Given the description of an element on the screen output the (x, y) to click on. 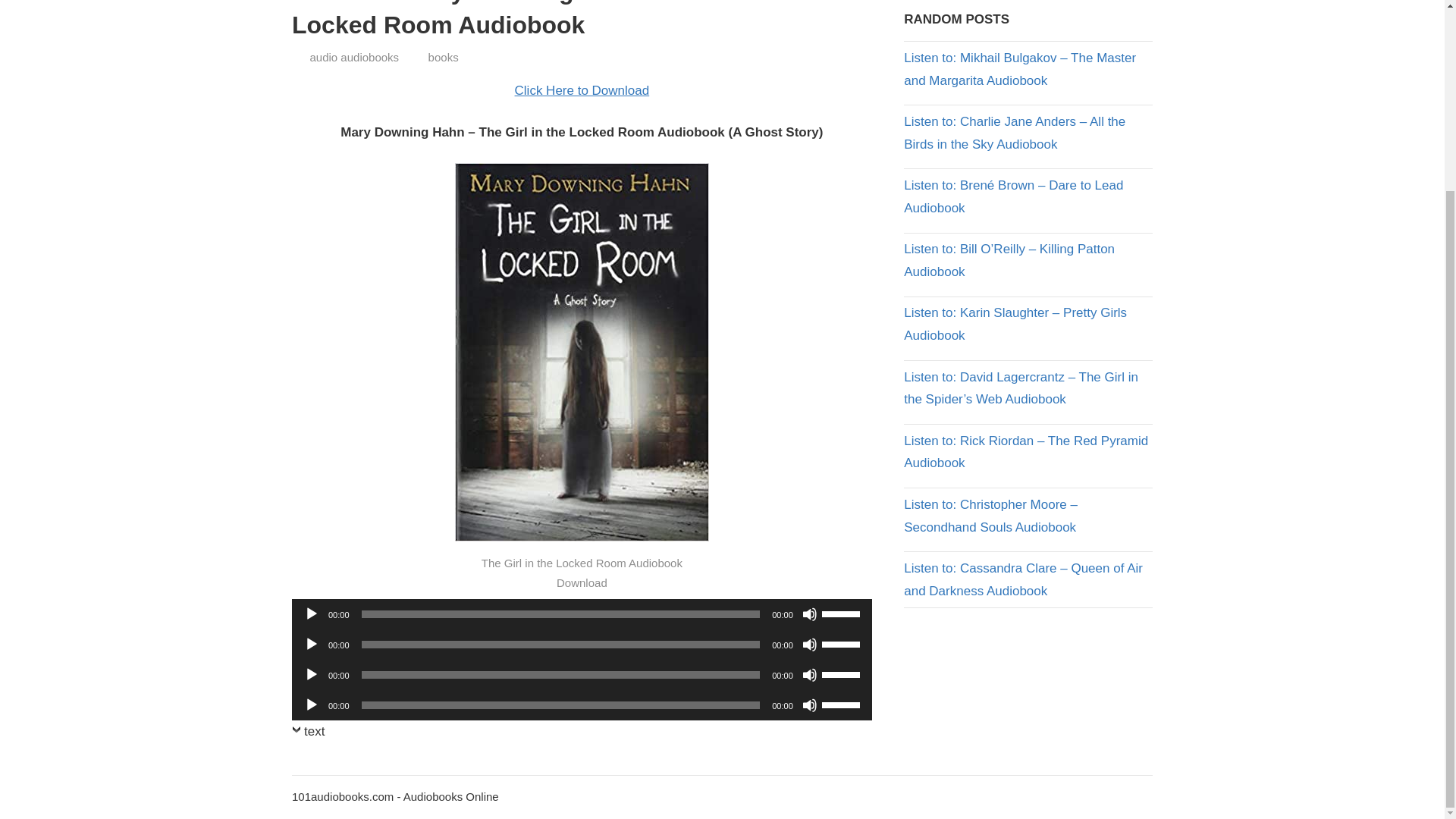
Play (311, 644)
audio audiobooks (353, 56)
Mute (809, 613)
text (308, 734)
Mute (809, 674)
books (443, 56)
Click Here to Download (582, 90)
Mute (809, 644)
Play (311, 704)
Play (311, 613)
View all posts by audio audiobooks (353, 56)
Mute (809, 704)
Play (311, 674)
